Given the description of an element on the screen output the (x, y) to click on. 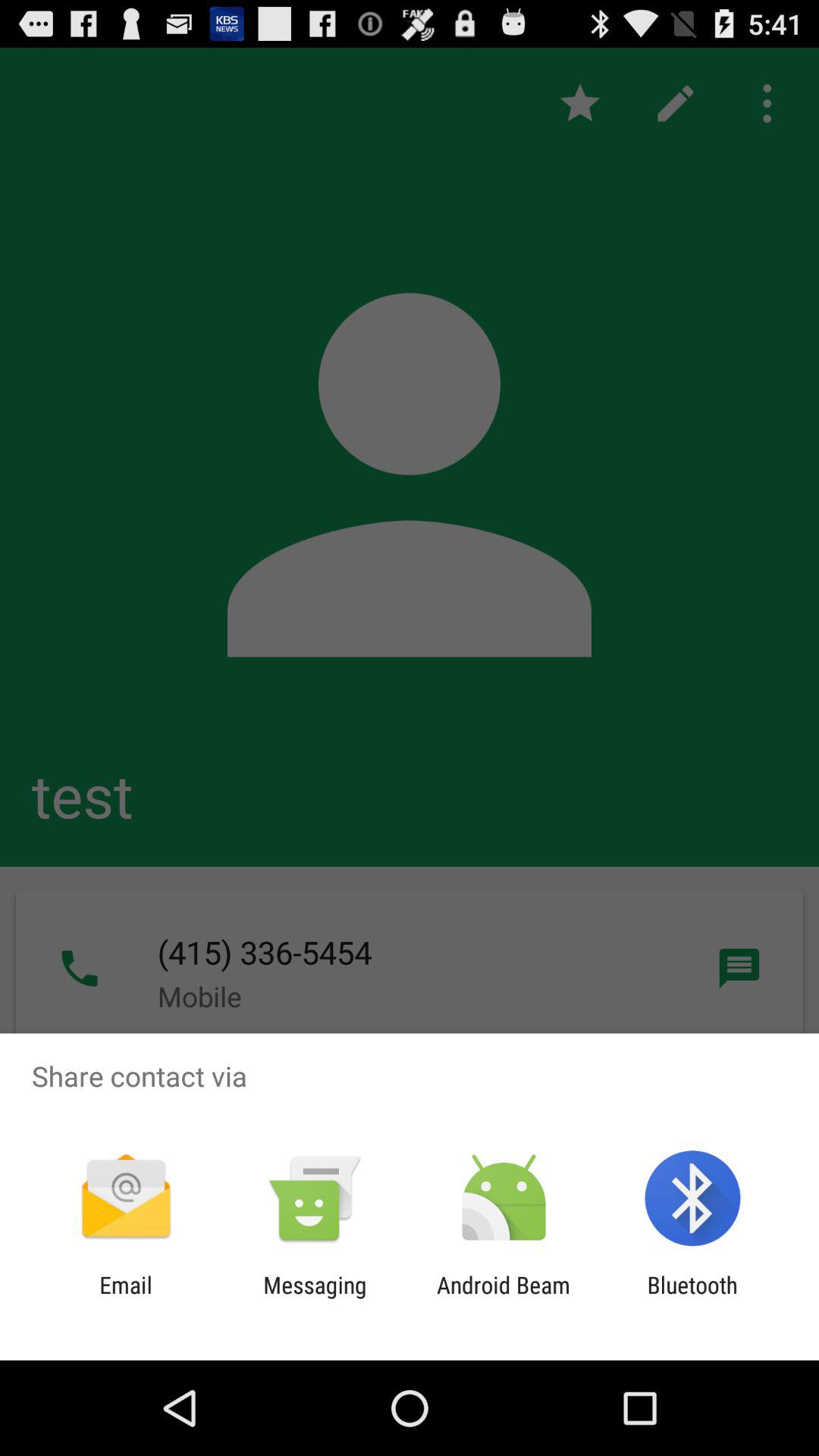
launch item next to android beam (314, 1298)
